Given the description of an element on the screen output the (x, y) to click on. 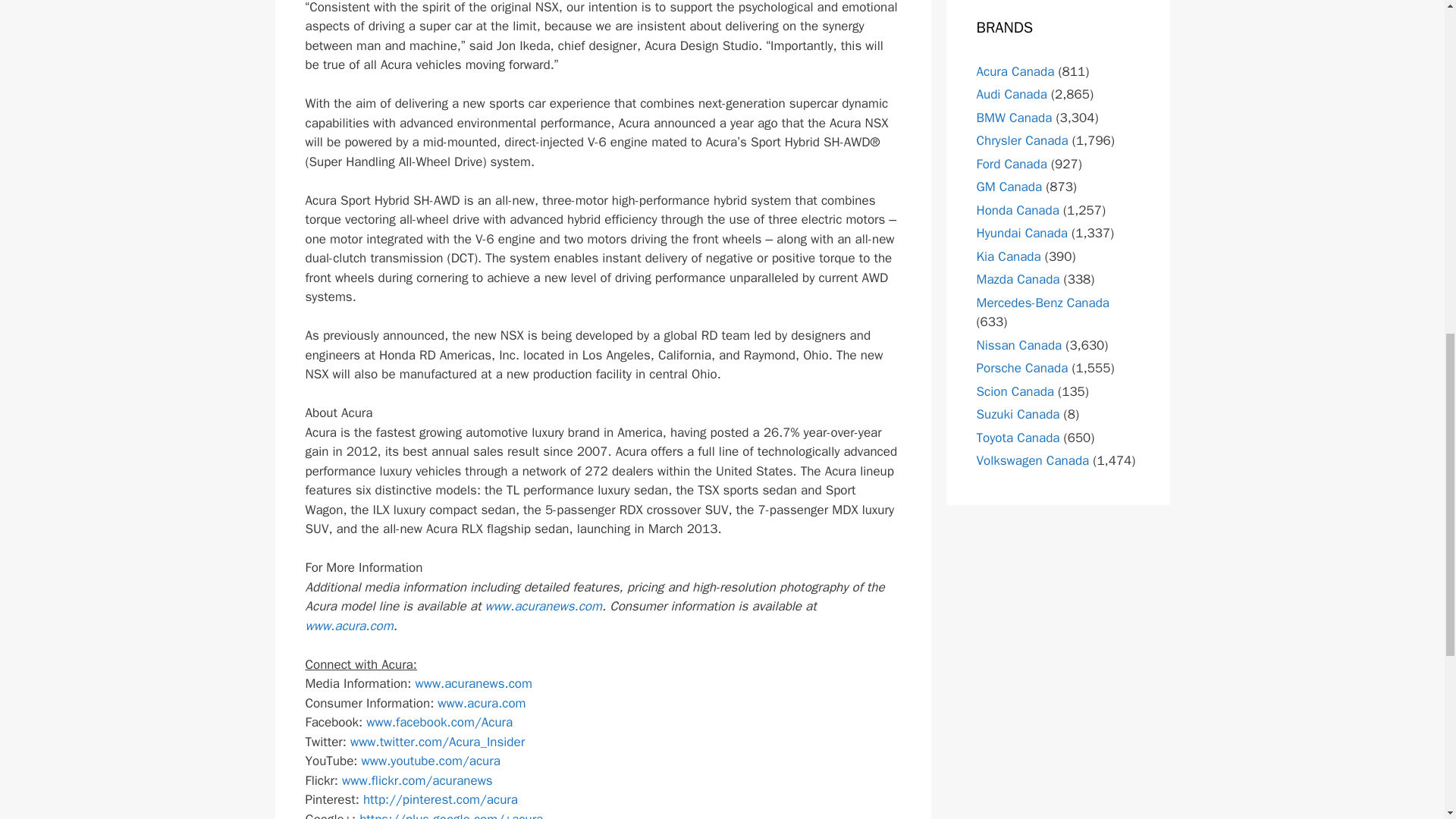
www.acuranews.com (543, 606)
www.acuranews.com (473, 683)
www.acura.com (348, 625)
GM Canada (1009, 186)
Ford Canada (1011, 163)
Acura Canada (1015, 71)
Scroll back to top (1406, 720)
www.acura.com (481, 703)
Honda Canada (1017, 210)
Chrysler Canada (1022, 140)
Audi Canada (1011, 94)
BMW Canada (1014, 117)
